Given the description of an element on the screen output the (x, y) to click on. 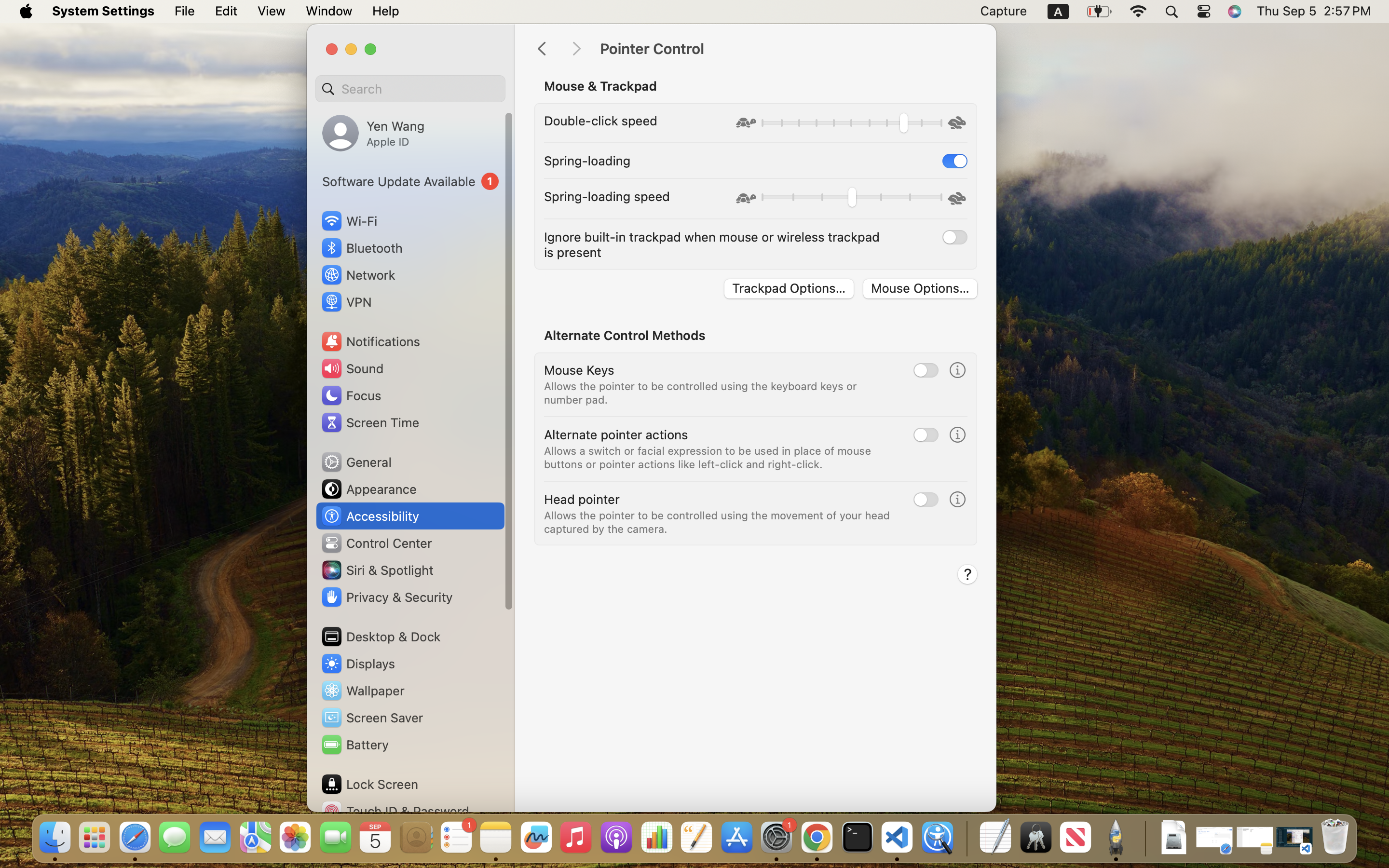
Screen Time Element type: AXStaticText (369, 422)
Bluetooth Element type: AXStaticText (361, 247)
Appearance Element type: AXStaticText (368, 488)
Head pointer Element type: AXStaticText (581, 498)
